Given the description of an element on the screen output the (x, y) to click on. 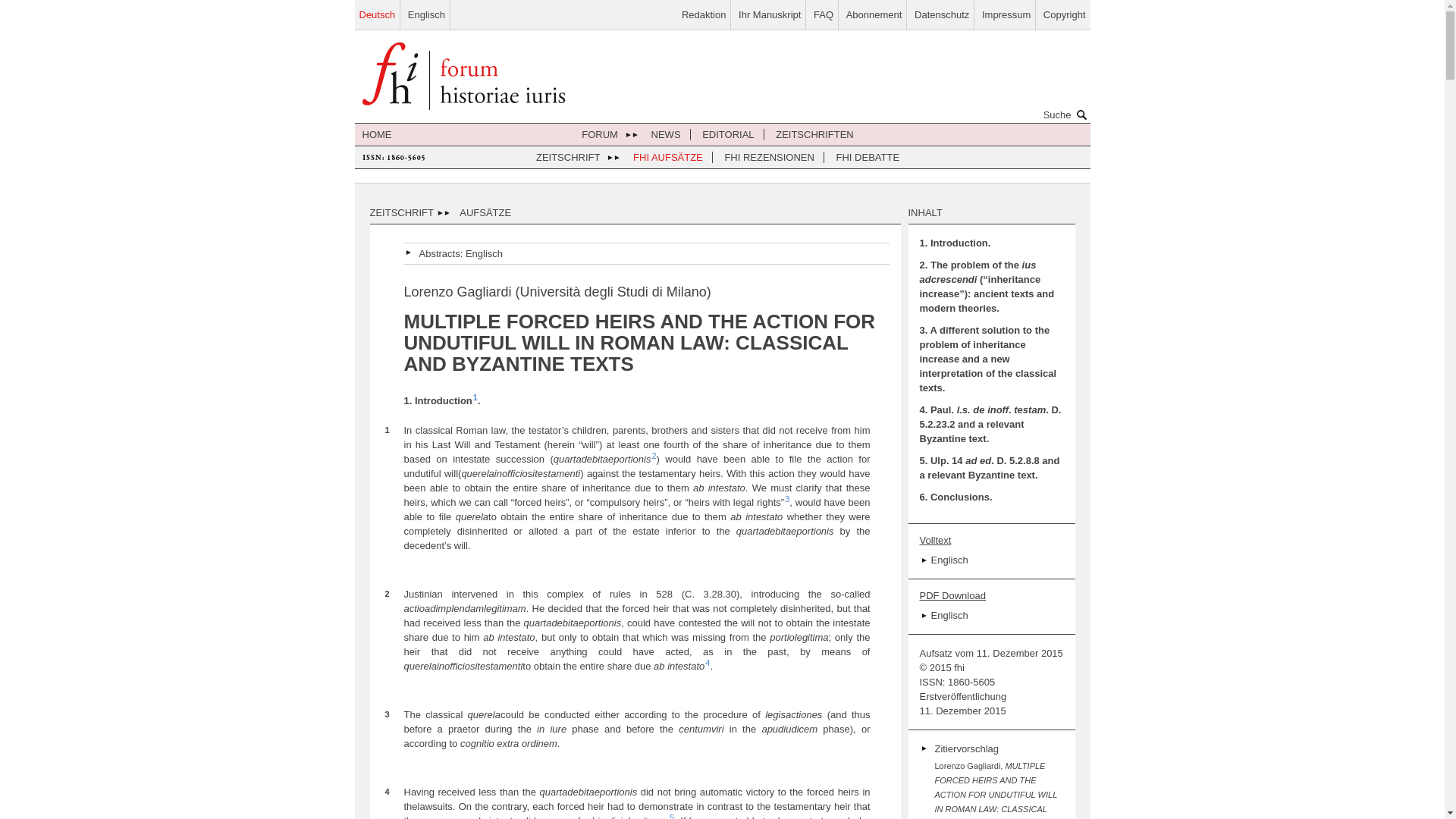
FHI DEBATTE (867, 156)
6. Conclusions. (954, 496)
FHI REZENSIONEN (769, 156)
5. Ulp. 14 ad ed. D. 5.2.8.8 and a relevant Byzantine text. (988, 467)
Deutsch (377, 14)
Copyright (1064, 14)
FAQ (823, 14)
1. Introduction. (954, 242)
Englisch (483, 253)
